Given the description of an element on the screen output the (x, y) to click on. 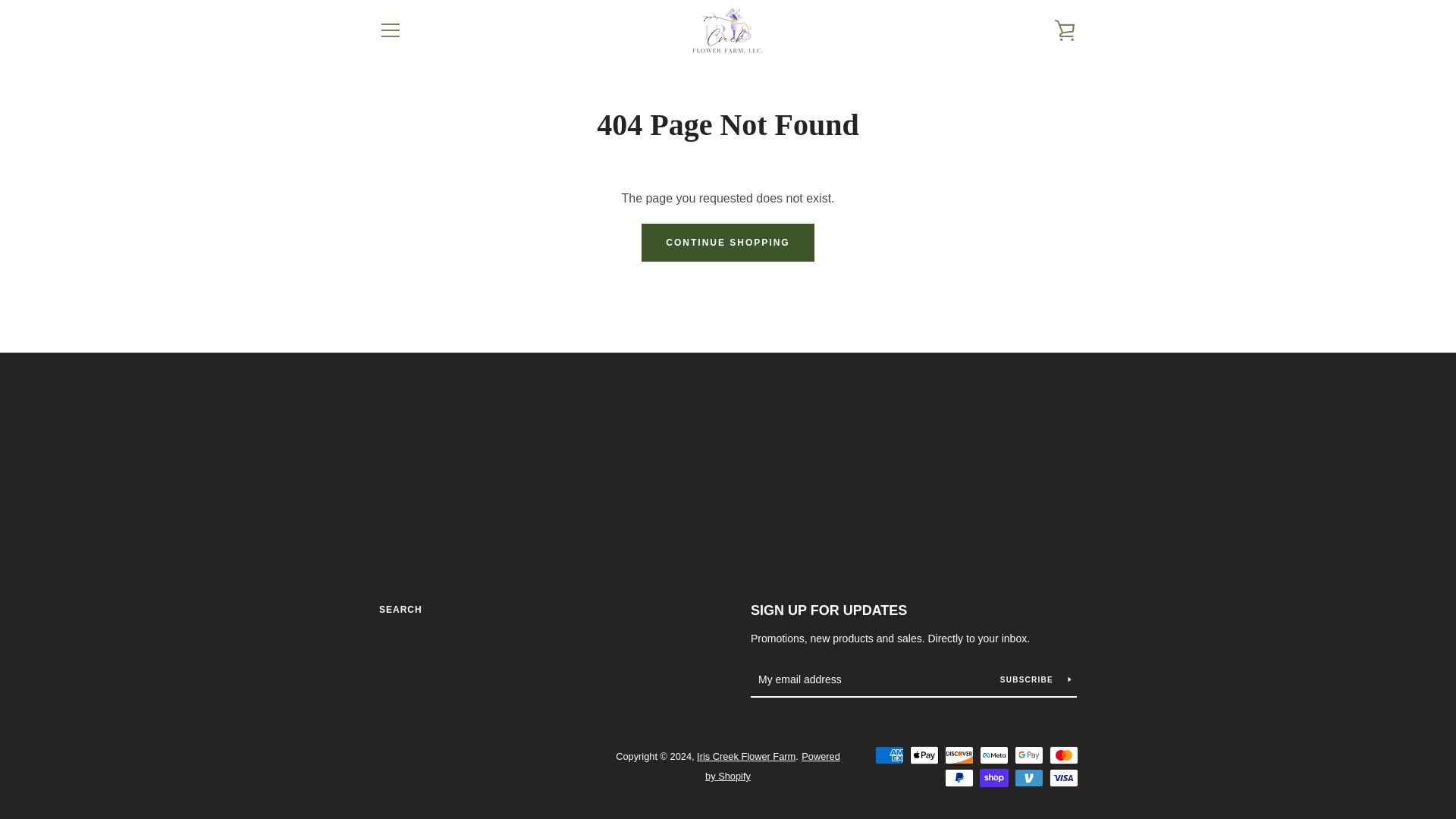
MENU (390, 30)
VIEW CART (1065, 30)
CONTINUE SHOPPING (727, 242)
